Given the description of an element on the screen output the (x, y) to click on. 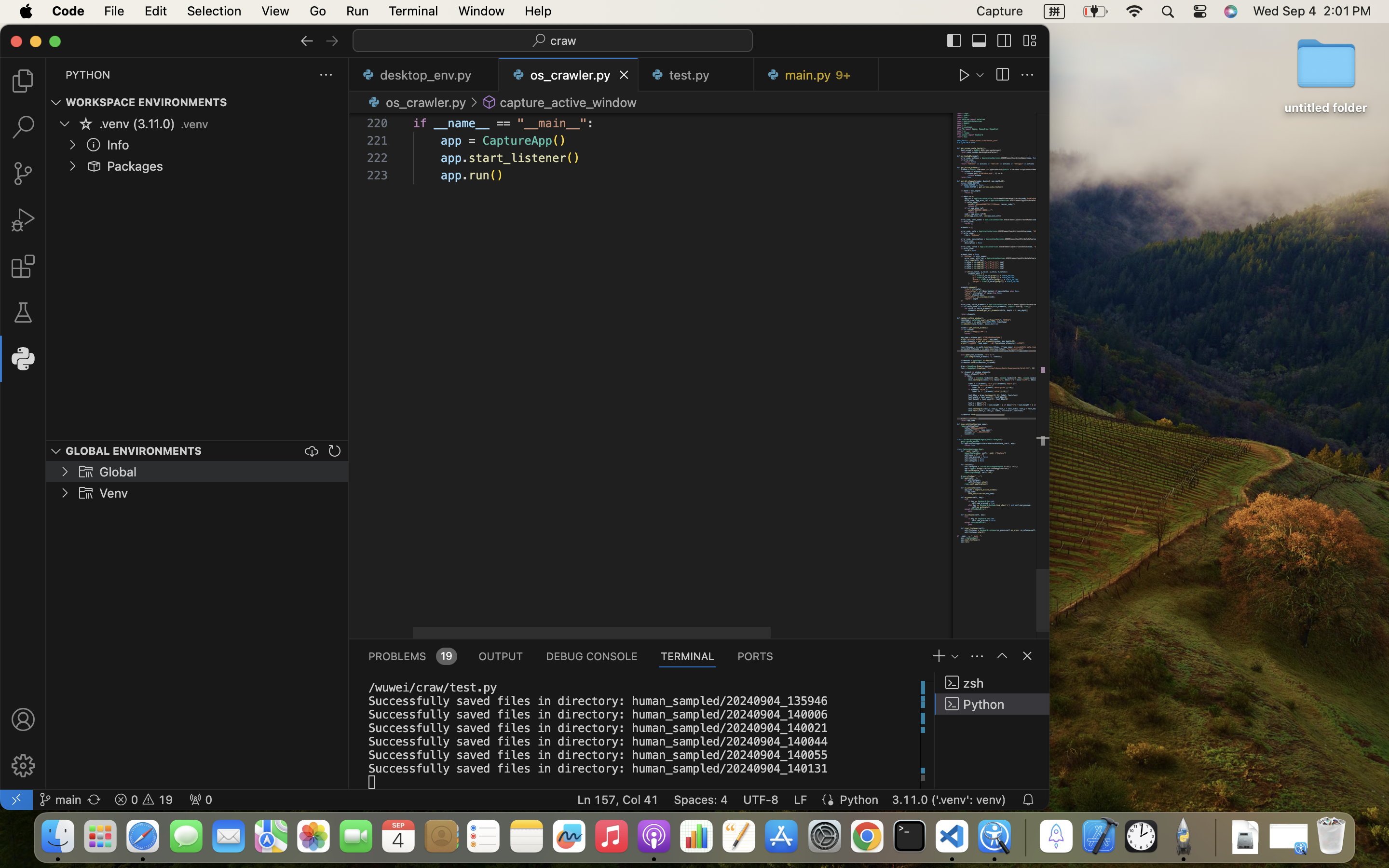
os_crawler.py  Element type: AXGroup (415, 101)
.venv Element type: AXStaticText (194, 124)
 Element type: AXGroup (23, 219)
0  Element type: AXRadioButton (23, 127)
19  0  Element type: AXButton (143, 799)
